Given the description of an element on the screen output the (x, y) to click on. 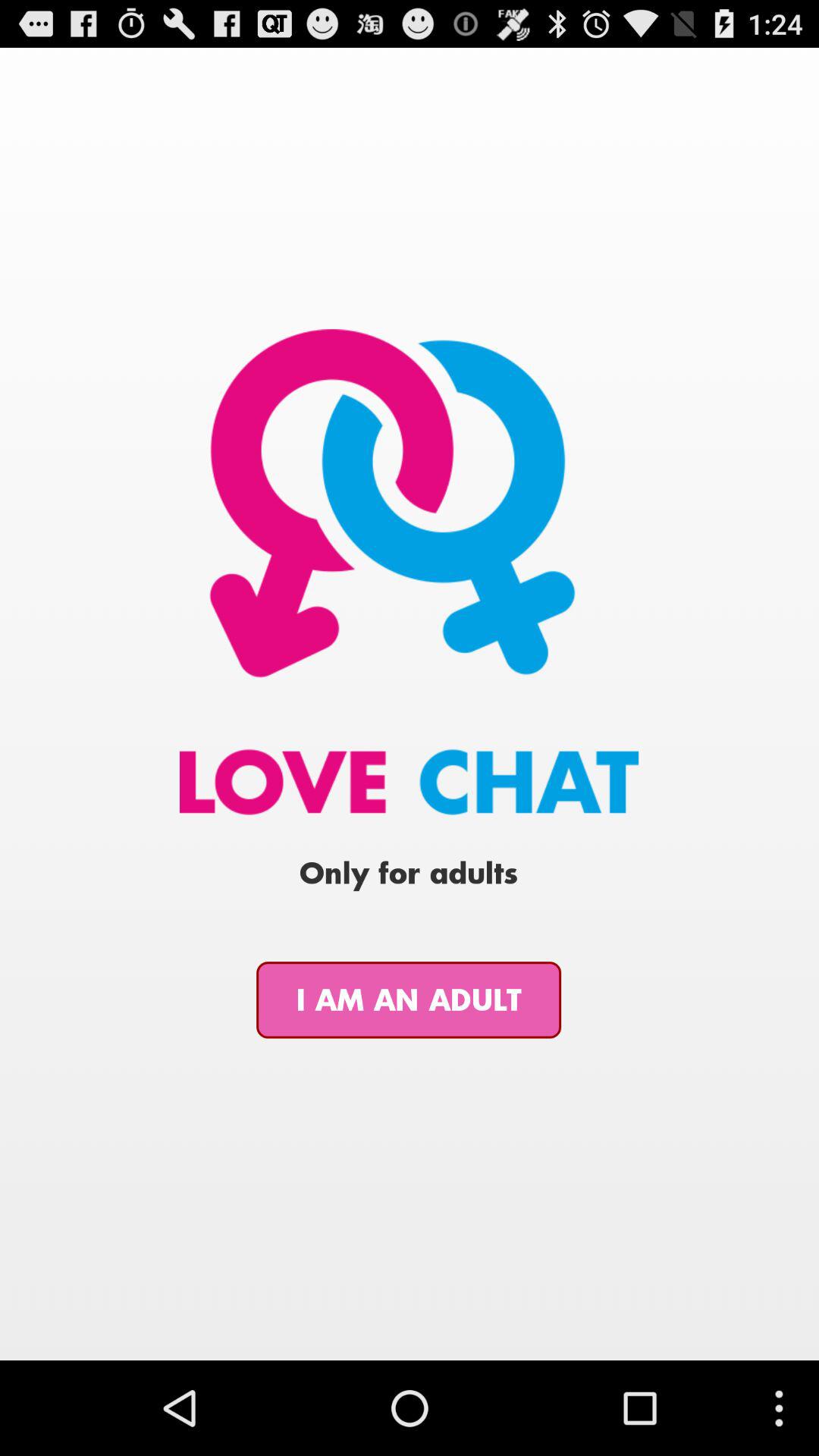
choose the i am an (408, 999)
